Given the description of an element on the screen output the (x, y) to click on. 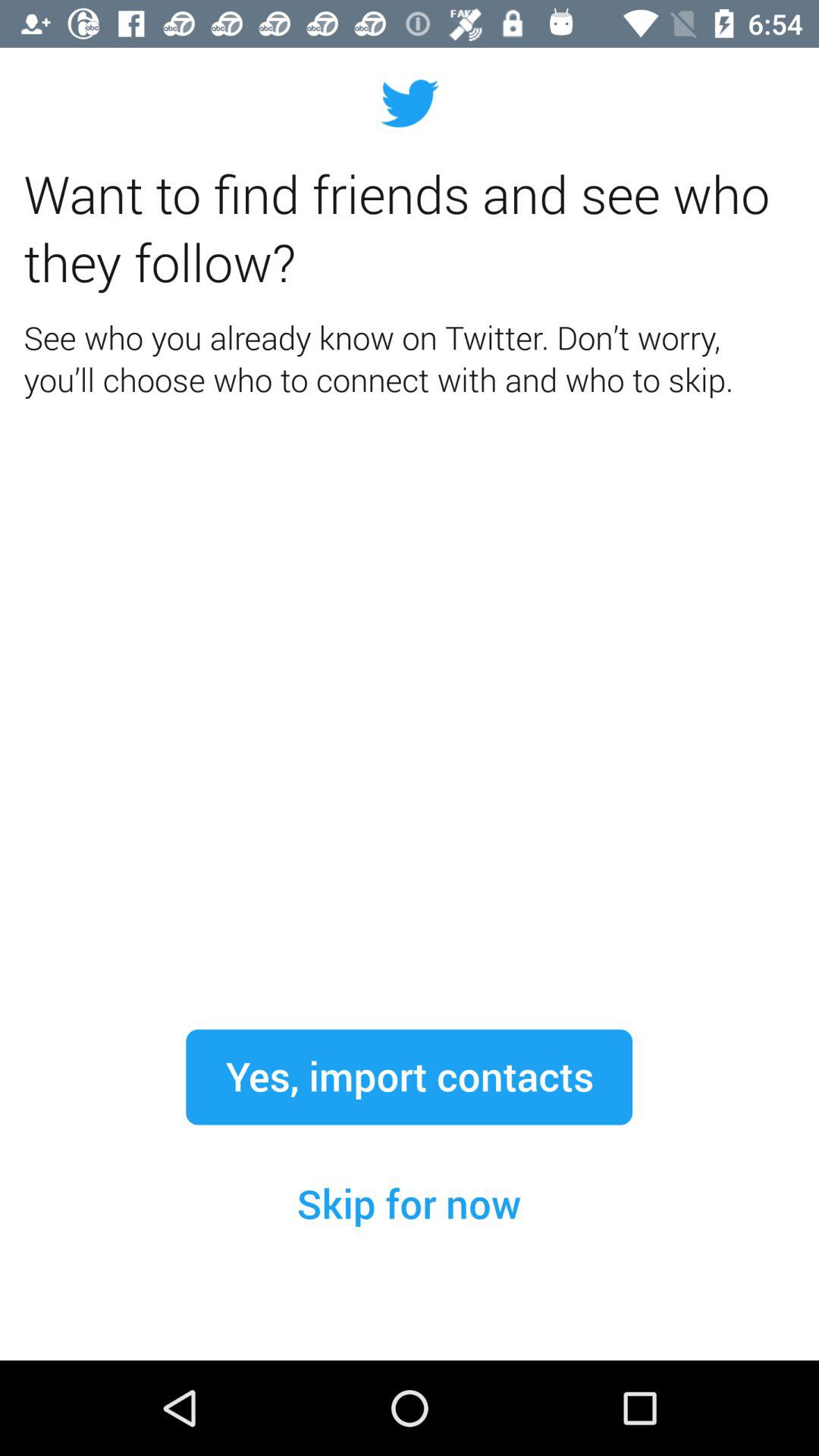
scroll to yes, import contacts (408, 1076)
